Given the description of an element on the screen output the (x, y) to click on. 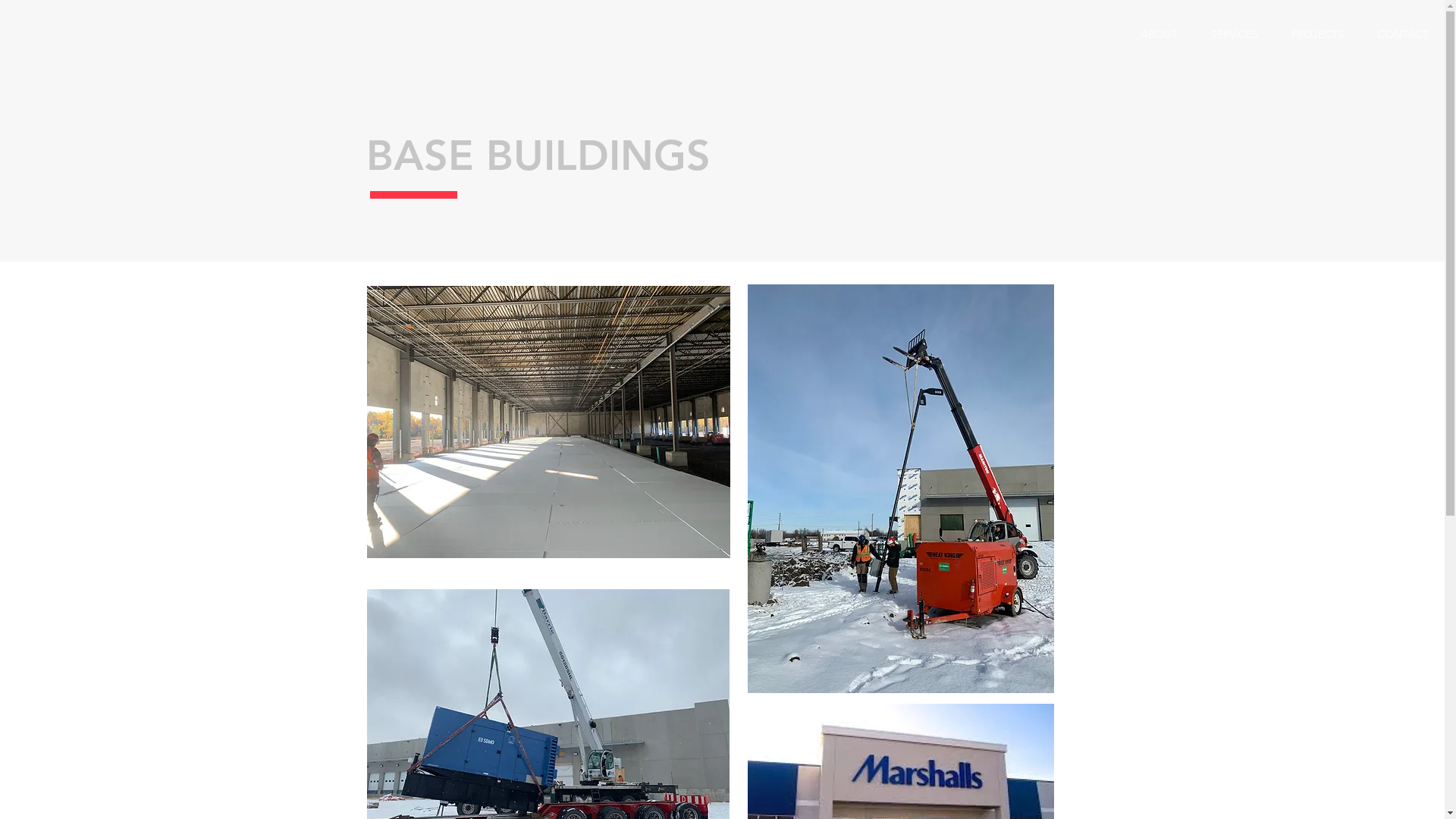
PROJECTS Element type: text (1317, 34)
CONTACT Element type: text (1402, 34)
ABOUT Element type: text (1158, 34)
SERVICES Element type: text (1234, 34)
